Given the description of an element on the screen output the (x, y) to click on. 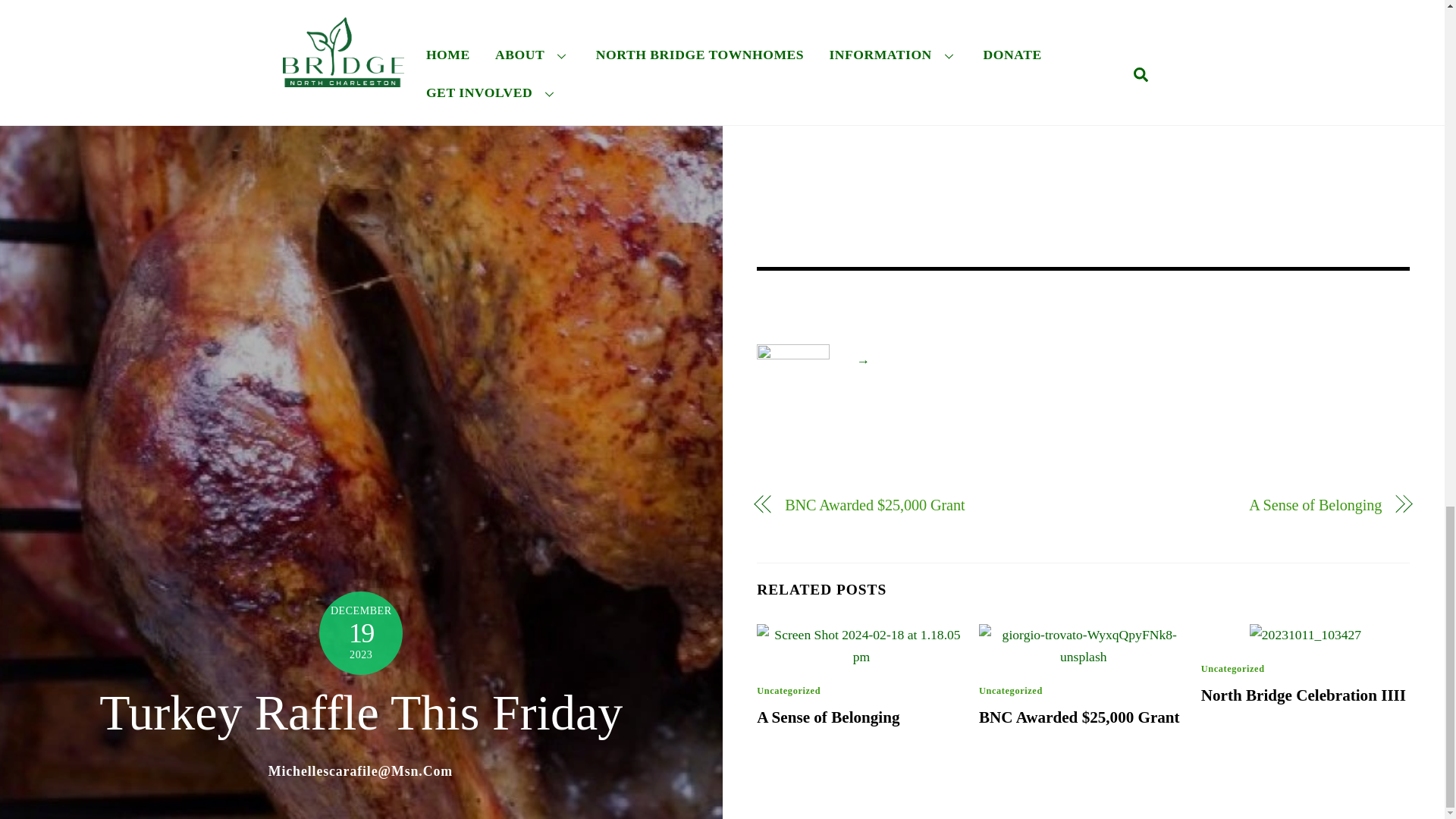
Uncategorized (789, 690)
A Sense of Belonging (828, 717)
Screen Shot 2024-02-18 at 1.18.05 pm (861, 646)
A Sense of Belonging (1242, 505)
North Bridge Celebration IIII (1303, 695)
giorgio-trovato-WyxqQpyFNk8-unsplash (1083, 646)
Uncategorized (1233, 668)
Uncategorized (1010, 690)
